Given the description of an element on the screen output the (x, y) to click on. 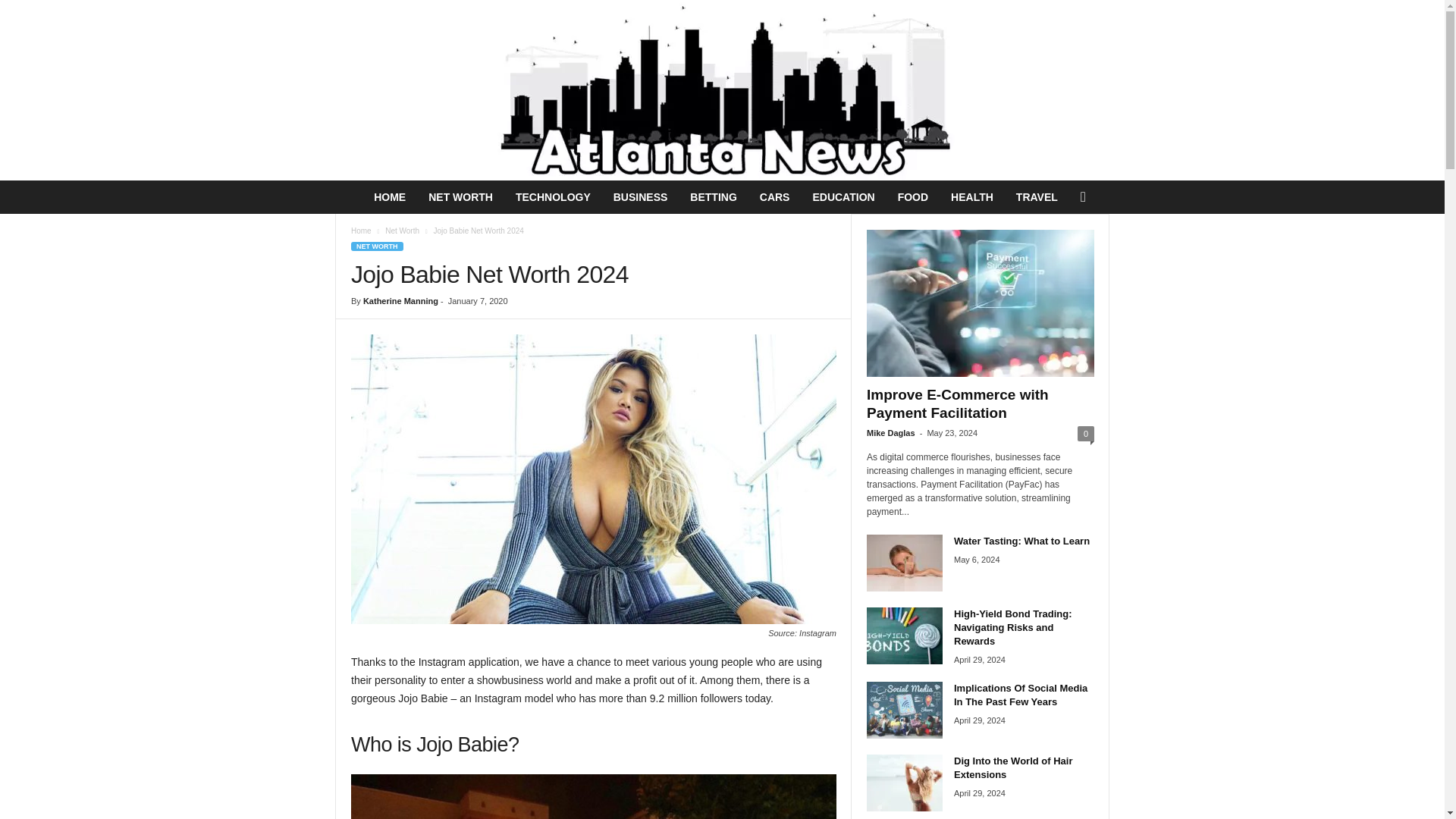
EDUCATION (842, 196)
Net Worth (402, 230)
TRAVEL (1036, 196)
BUSINESS (640, 196)
Improve E-Commerce with Payment Facilitation (980, 303)
View all posts in Net Worth (402, 230)
Katherine Manning (400, 300)
TECHNOLOGY (552, 196)
HEALTH (971, 196)
Atlanta Celebrity News (721, 90)
CARS (775, 196)
Home (360, 230)
BETTING (713, 196)
FOOD (912, 196)
